Given the description of an element on the screen output the (x, y) to click on. 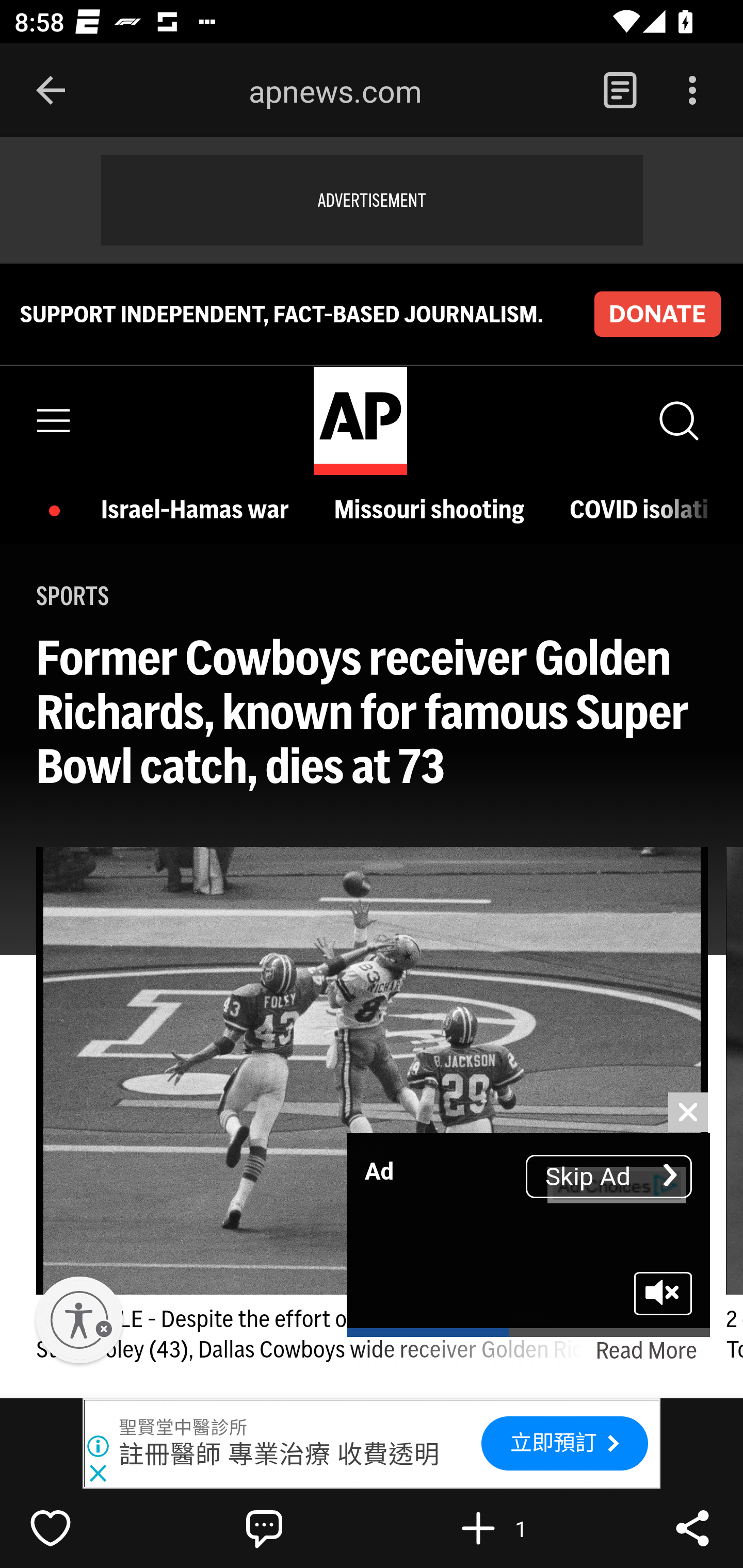
Back (50, 90)
Reader View (619, 90)
Options (692, 90)
DONATE (657, 313)
home page AP Logo (359, 420)
Menu (54, 419)
Show Search (677, 419)
Israel-Hamas war (200, 509)
Missouri shooting (433, 509)
COVID isolation time (638, 509)
SPORTS (72, 595)
Enable accessibility (79, 1320)
聖賢堂中醫診所 (183, 1427)
立即預訂 (564, 1442)
註冊醫師 專業治療 收費透明 (279, 1453)
Like (93, 1528)
Write a comment… (307, 1528)
Flip into Magazine 1 (521, 1528)
Share (692, 1528)
